Given the description of an element on the screen output the (x, y) to click on. 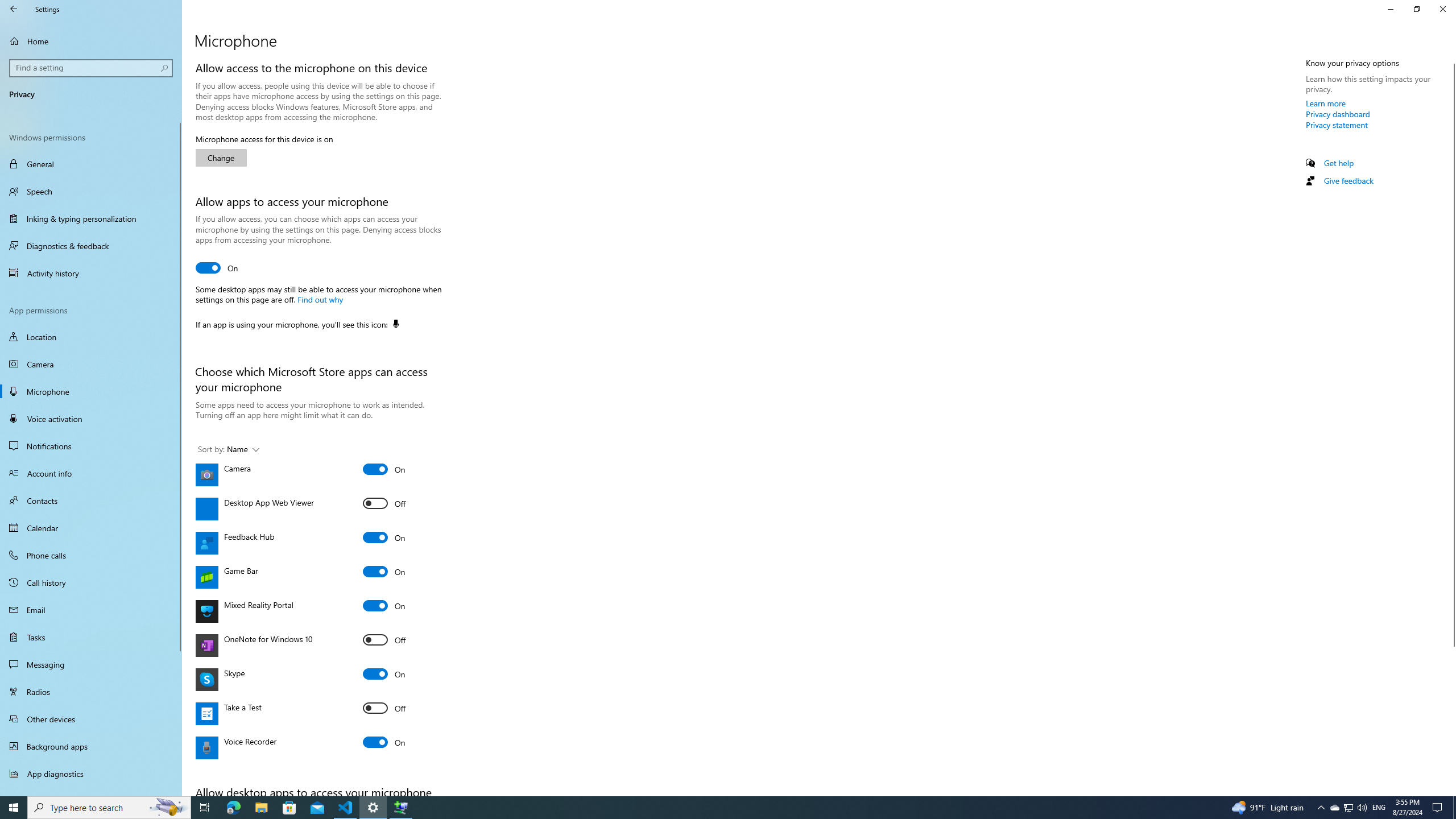
OneNote for Windows 10 (384, 639)
Diagnostics & feedback (91, 245)
Call history (91, 582)
Other devices (91, 718)
Voice activation (91, 418)
Sort by: Name (228, 449)
Automatic file downloads (91, 791)
Camera (384, 469)
Mixed Reality Portal (384, 605)
Email (91, 609)
Calendar (91, 527)
